Given the description of an element on the screen output the (x, y) to click on. 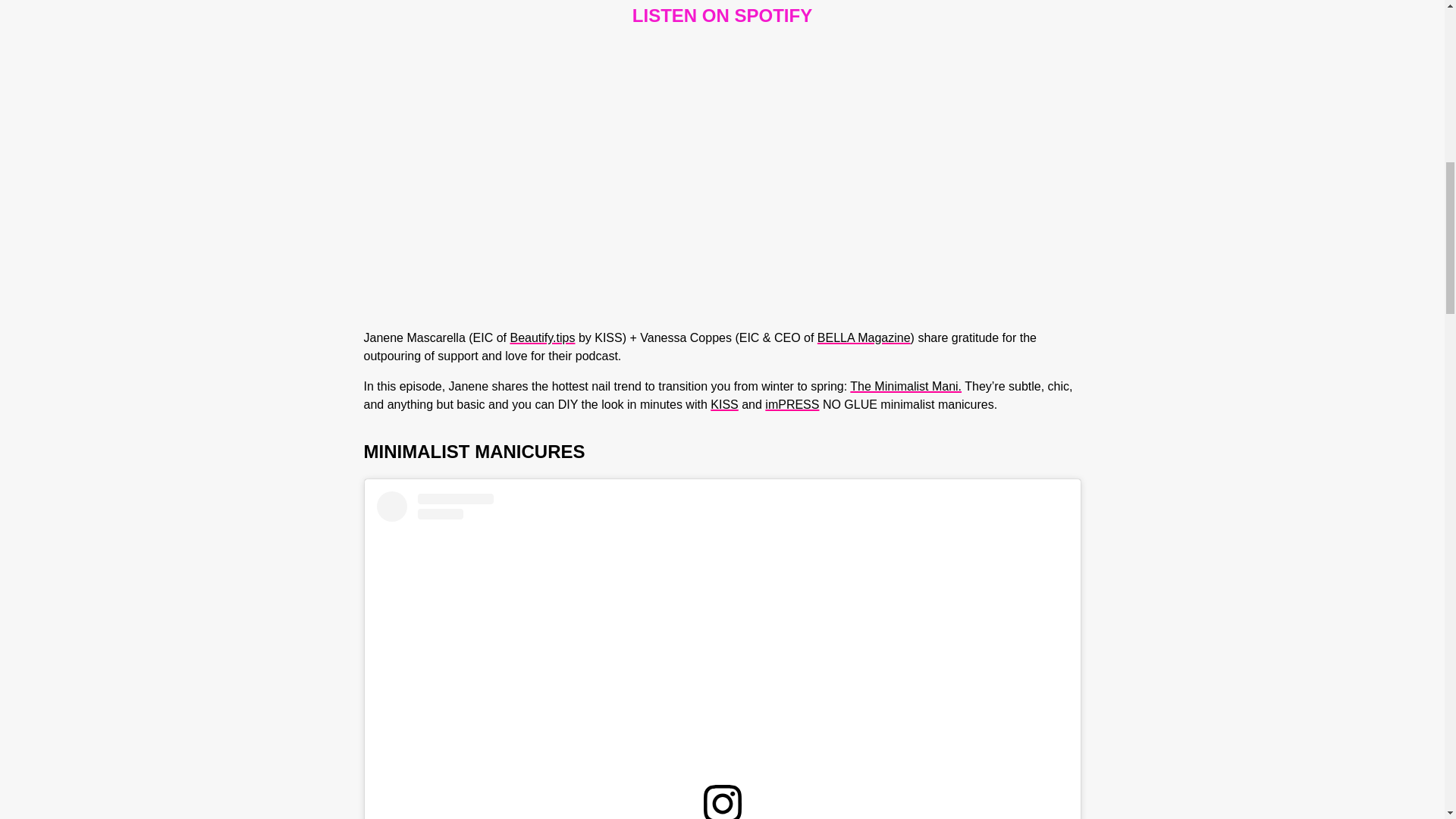
BELLA Magazine (863, 337)
Beautify.tips (542, 337)
KISS (724, 404)
The Minimalist Mani. (905, 386)
imPRESS (791, 404)
